Given the description of an element on the screen output the (x, y) to click on. 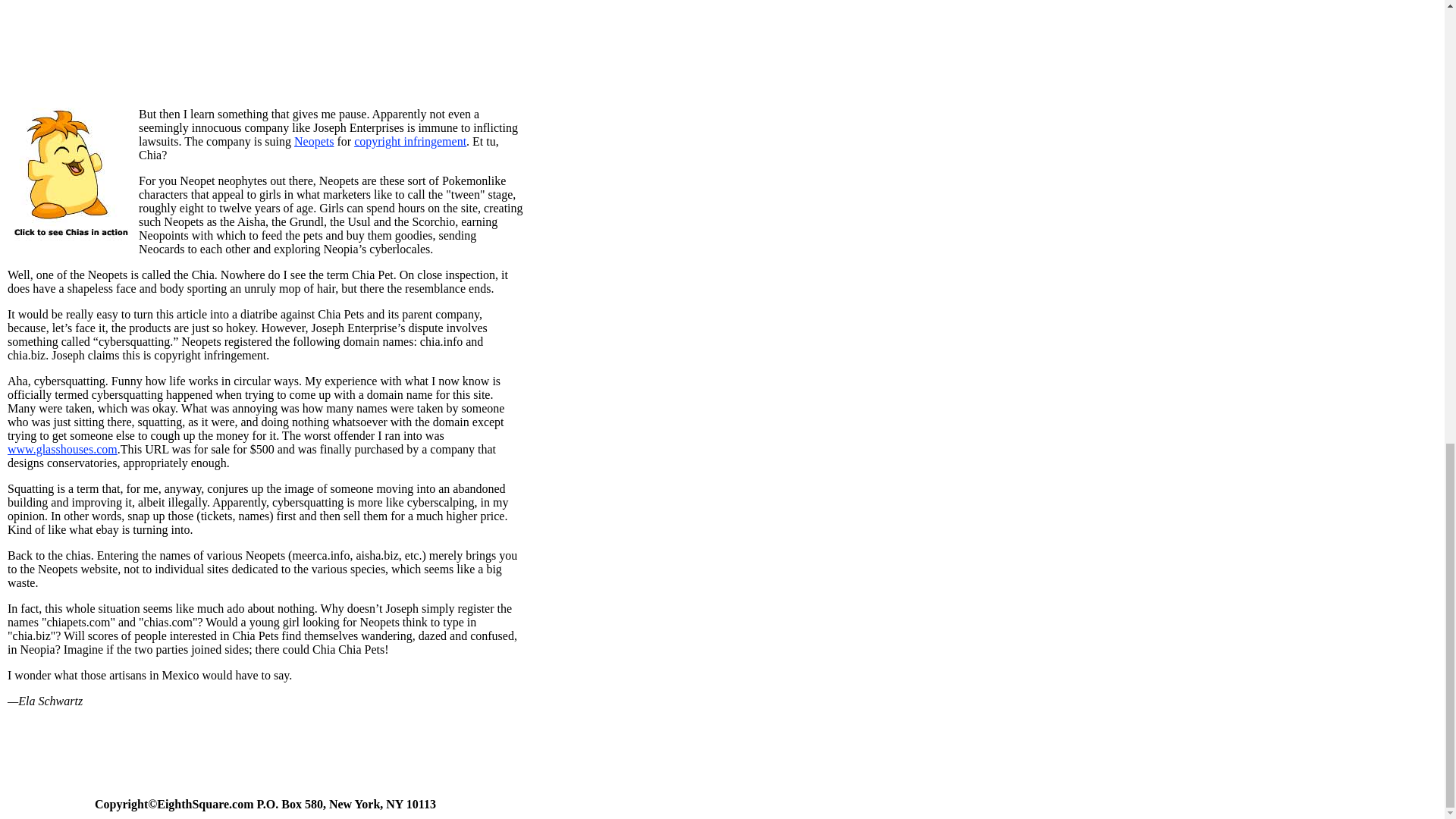
Neopets (313, 141)
copyright infringement (409, 141)
Advertisement (264, 40)
shouses.com (85, 449)
www.glas (31, 449)
